Given the description of an element on the screen output the (x, y) to click on. 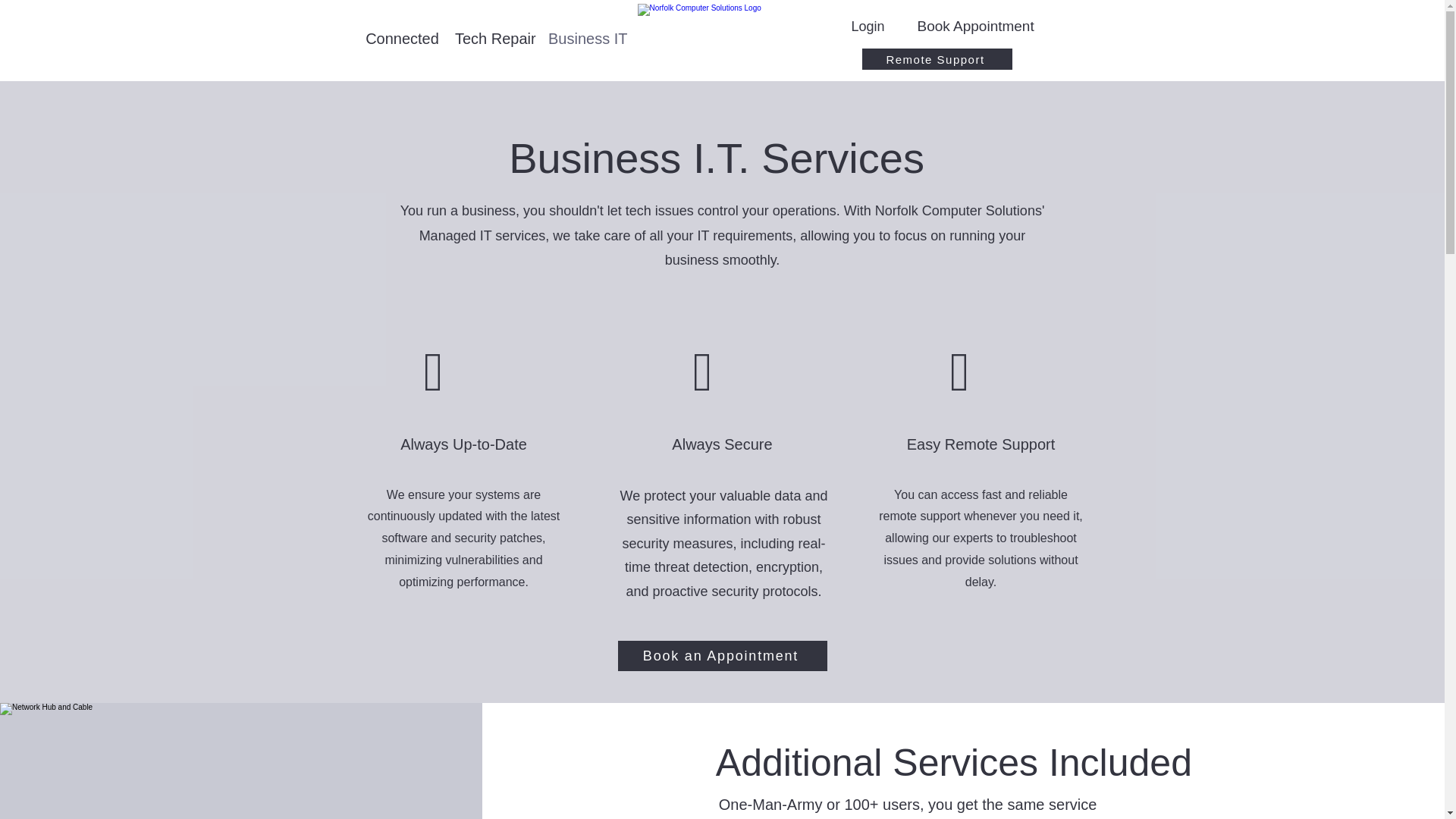
Connected (401, 38)
Login (866, 26)
Business IT (585, 38)
Tech Repair (493, 38)
Remote Support (936, 58)
Book Appointment (975, 26)
Book an Appointment (722, 655)
